Given the description of an element on the screen output the (x, y) to click on. 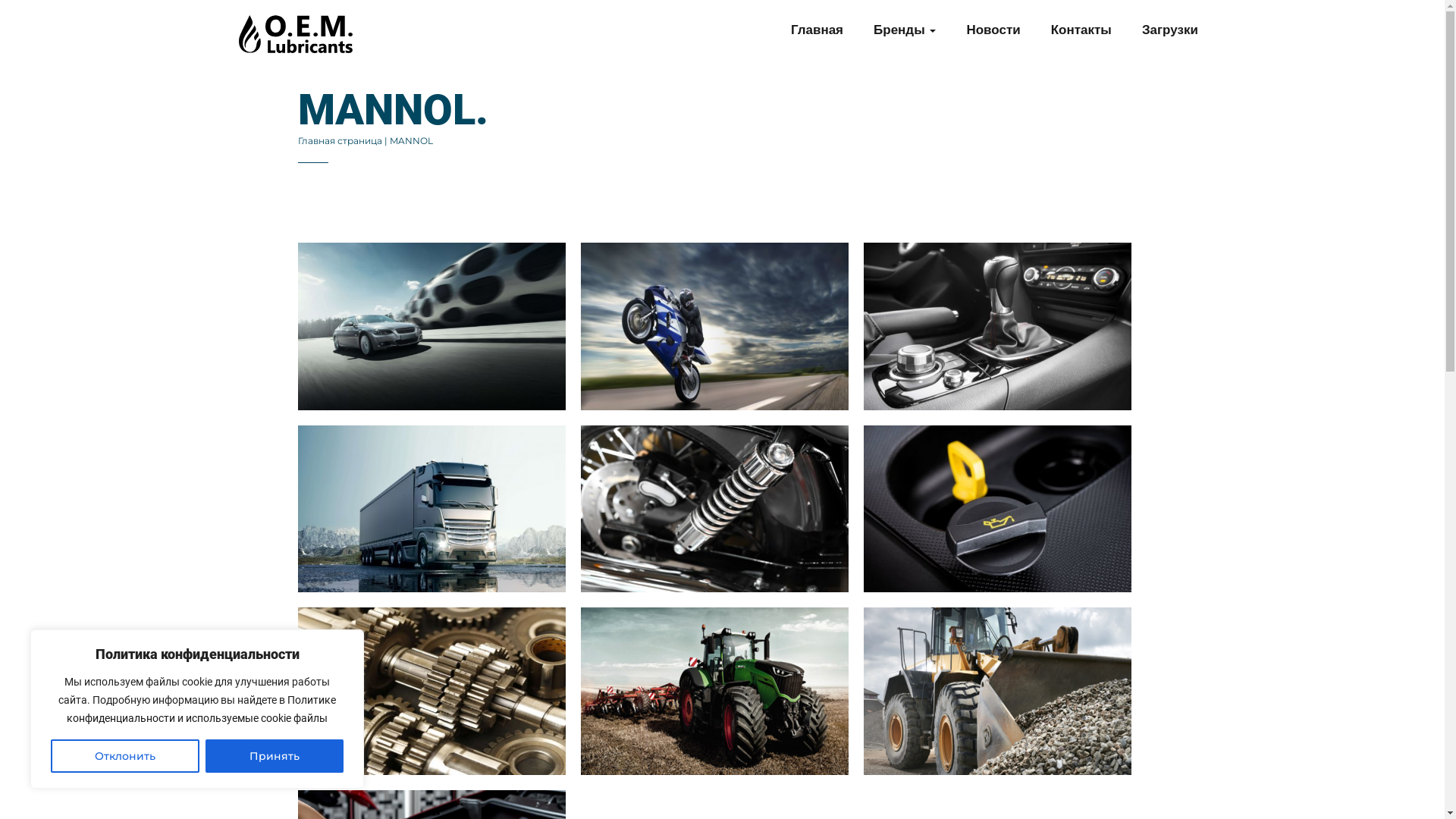
MANNOL Element type: text (411, 140)
